Given the description of an element on the screen output the (x, y) to click on. 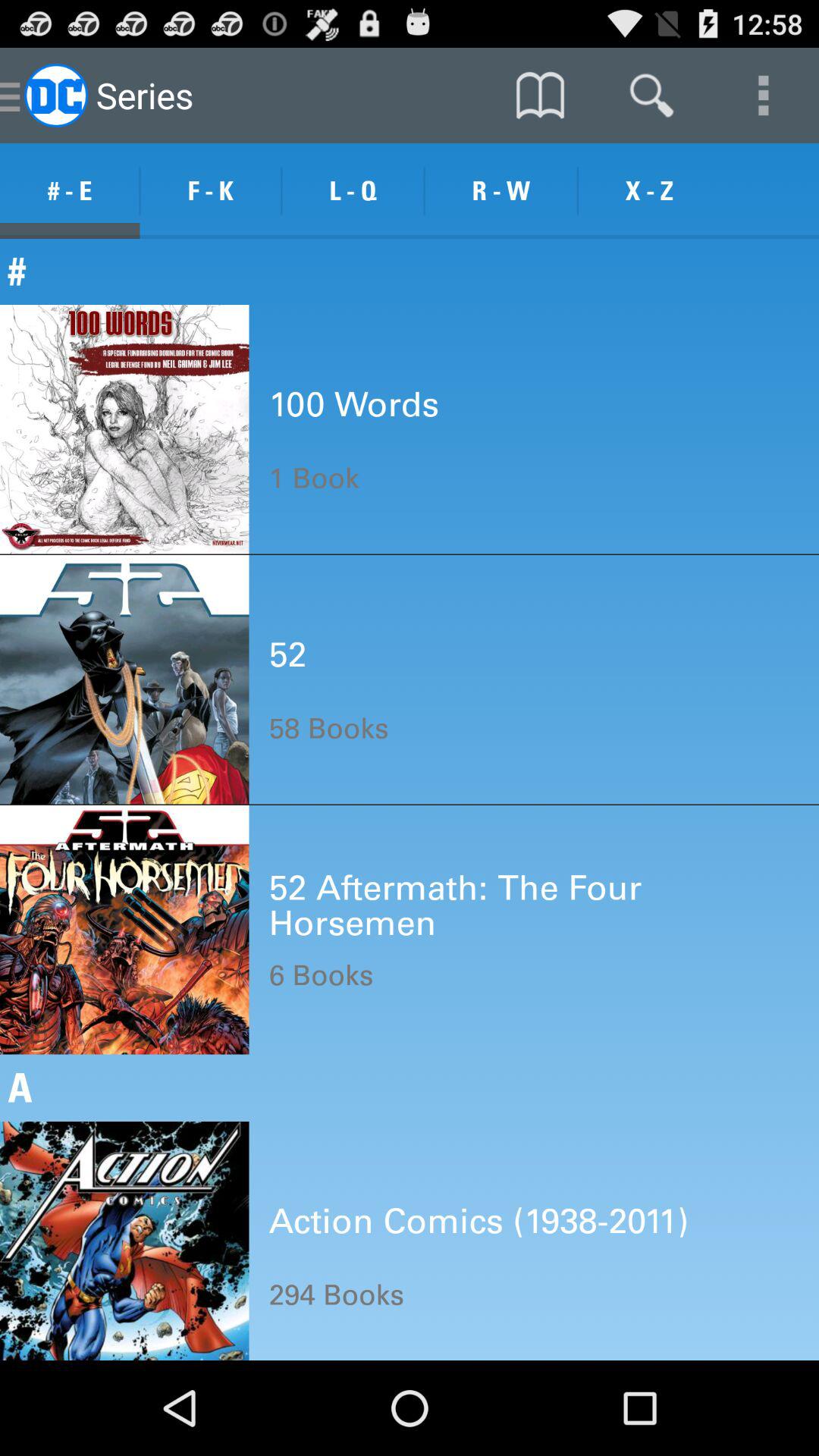
flip until l - q item (352, 190)
